Given the description of an element on the screen output the (x, y) to click on. 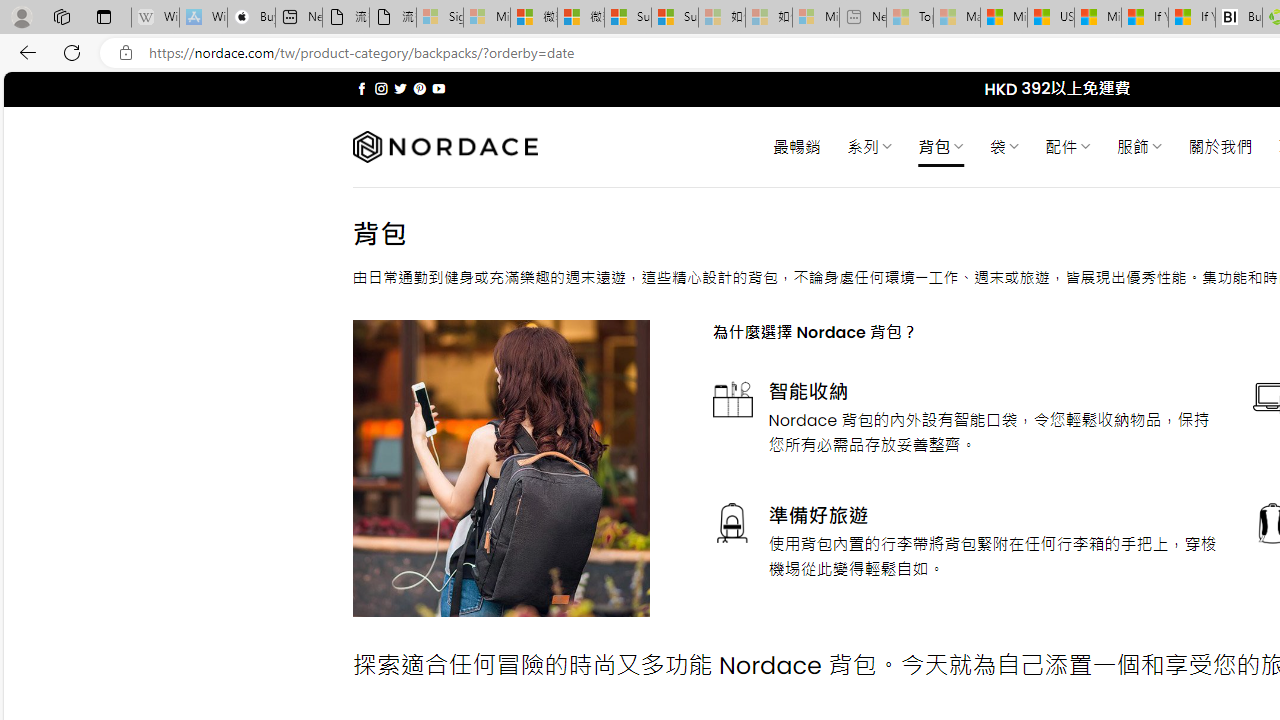
Follow on Pinterest (419, 88)
Top Stories - MSN - Sleeping (910, 17)
